Given the description of an element on the screen output the (x, y) to click on. 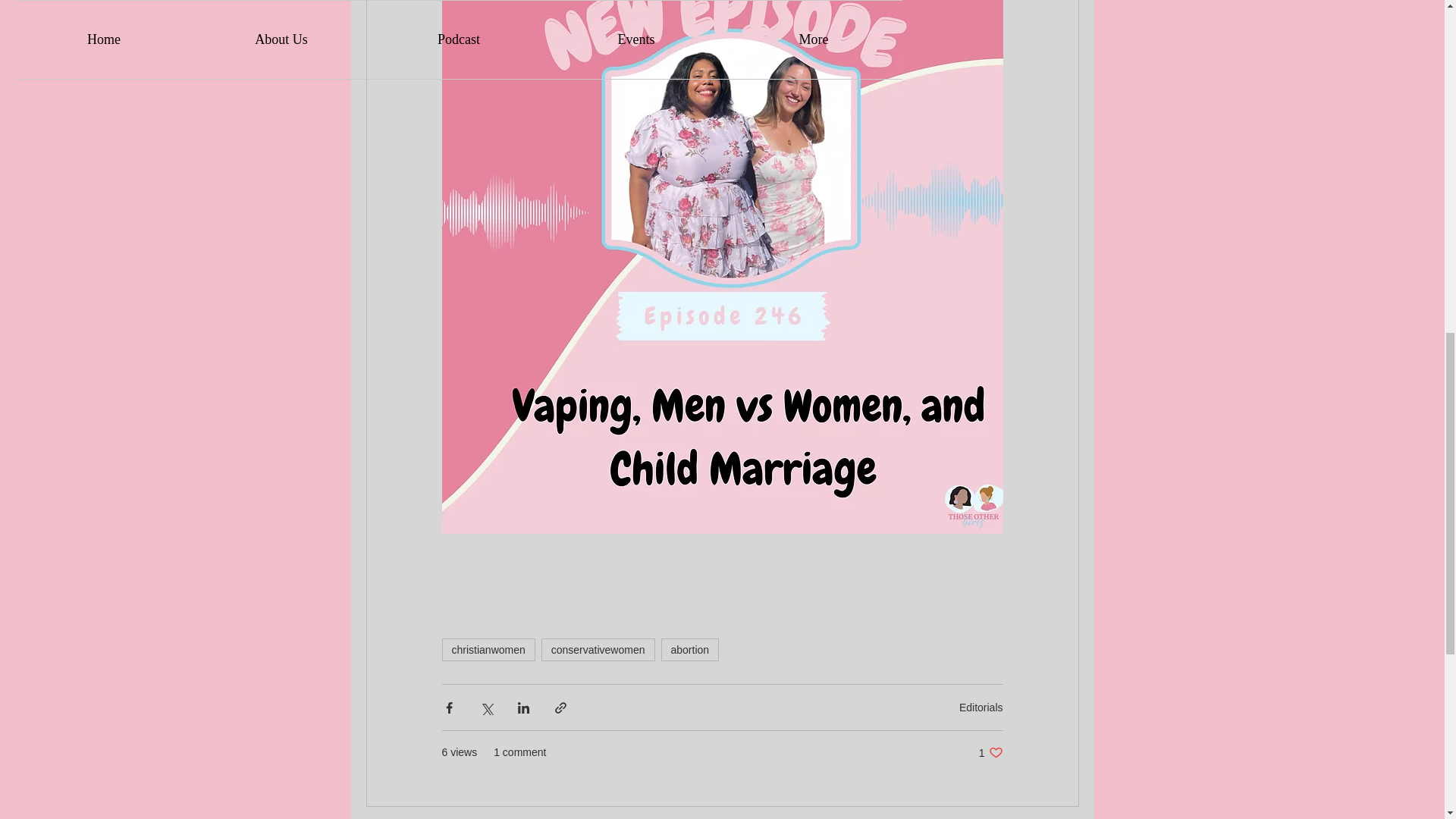
conservativewomen (990, 752)
abortion (598, 649)
Editorials (690, 649)
christianwomen (981, 707)
